Given the description of an element on the screen output the (x, y) to click on. 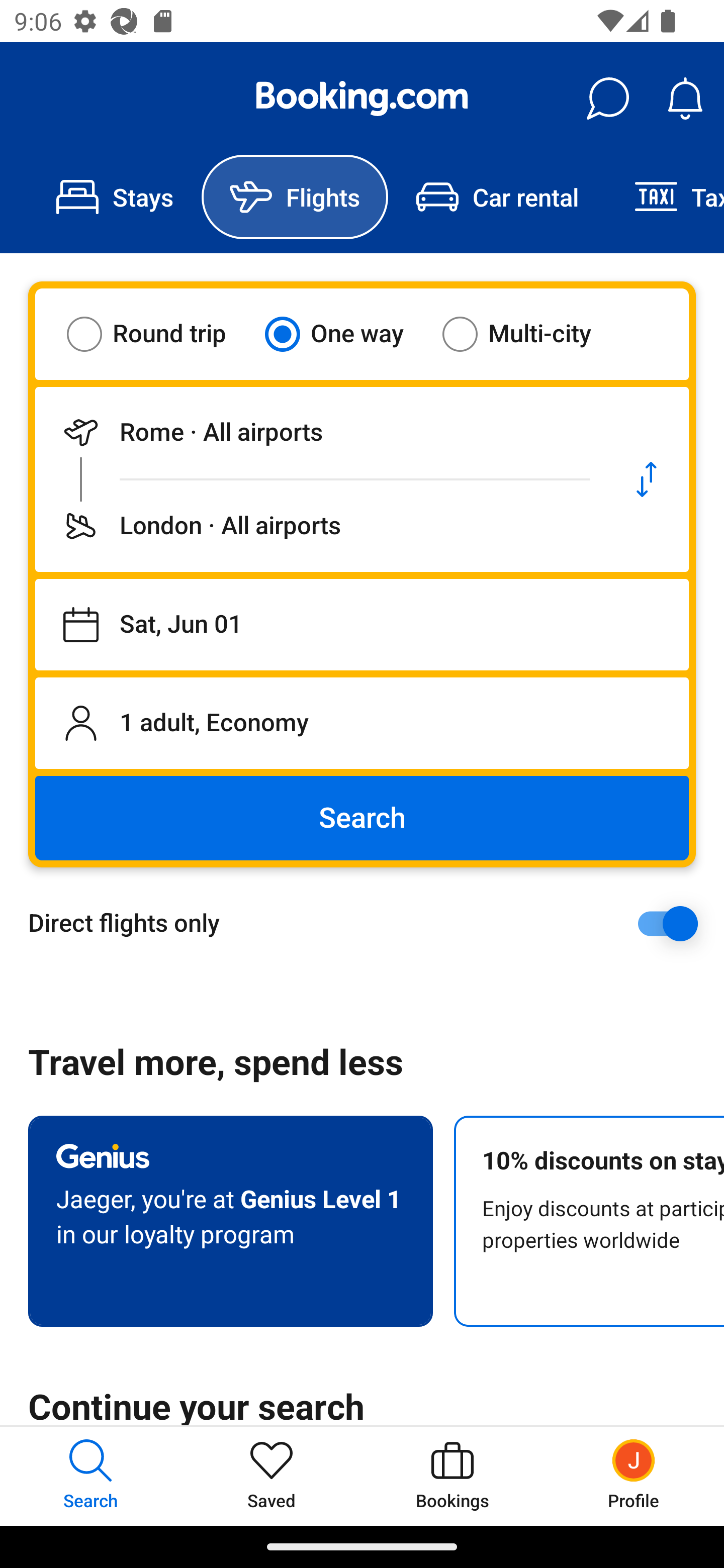
Messages (607, 98)
Notifications (685, 98)
Stays (114, 197)
Flights (294, 197)
Car rental (497, 197)
Taxi (665, 197)
Round trip (158, 333)
Multi-city (528, 333)
Departing from Rome · All airports (319, 432)
Swap departure location and destination (646, 479)
Flying to London · All airports (319, 525)
Departing on Sat, Jun 01 (361, 624)
1 adult, Economy (361, 722)
Search (361, 818)
Direct flights only (369, 923)
Saved (271, 1475)
Bookings (452, 1475)
Profile (633, 1475)
